Given the description of an element on the screen output the (x, y) to click on. 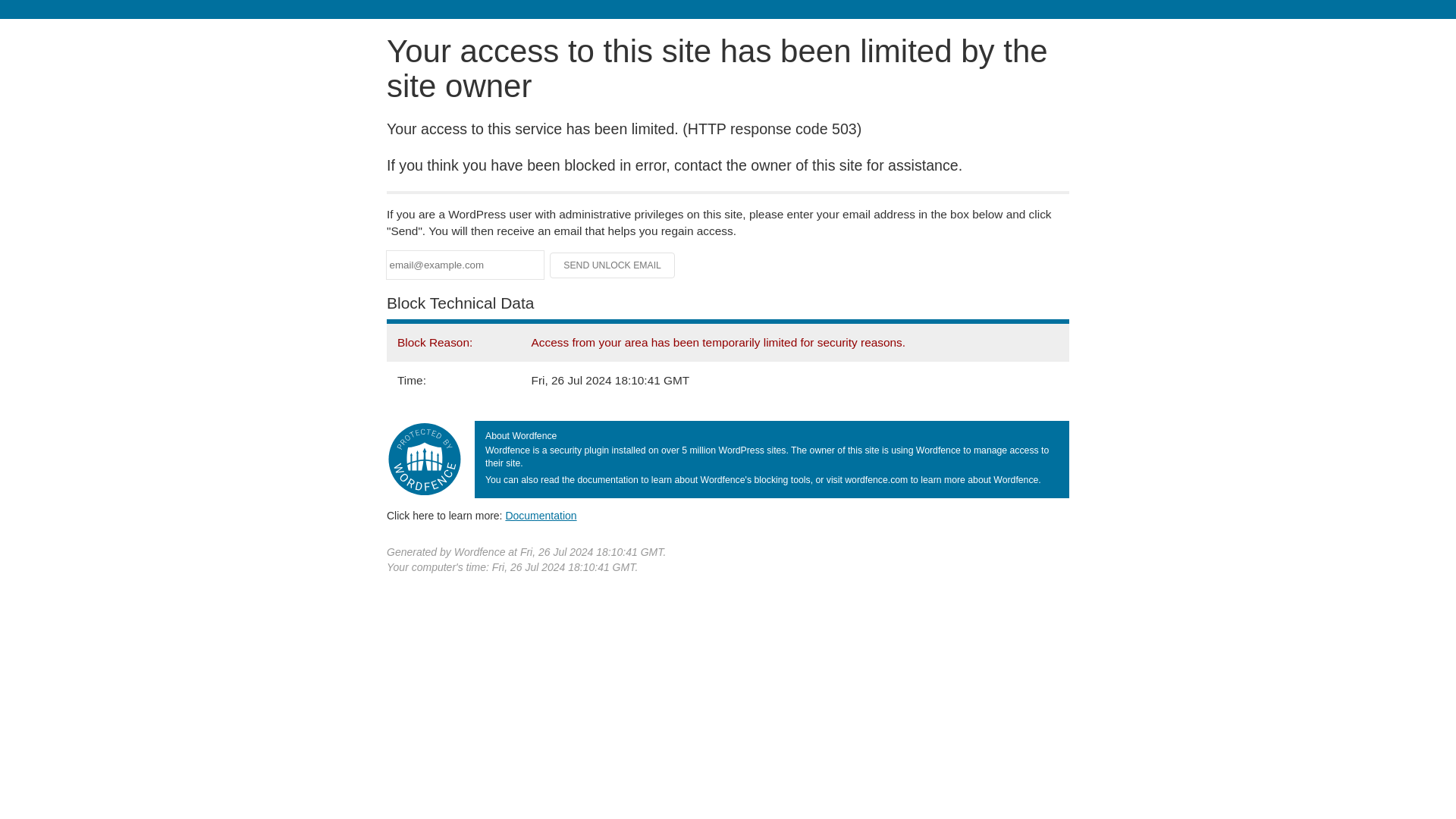
Send Unlock Email (612, 265)
Send Unlock Email (612, 265)
Documentation (540, 515)
